Given the description of an element on the screen output the (x, y) to click on. 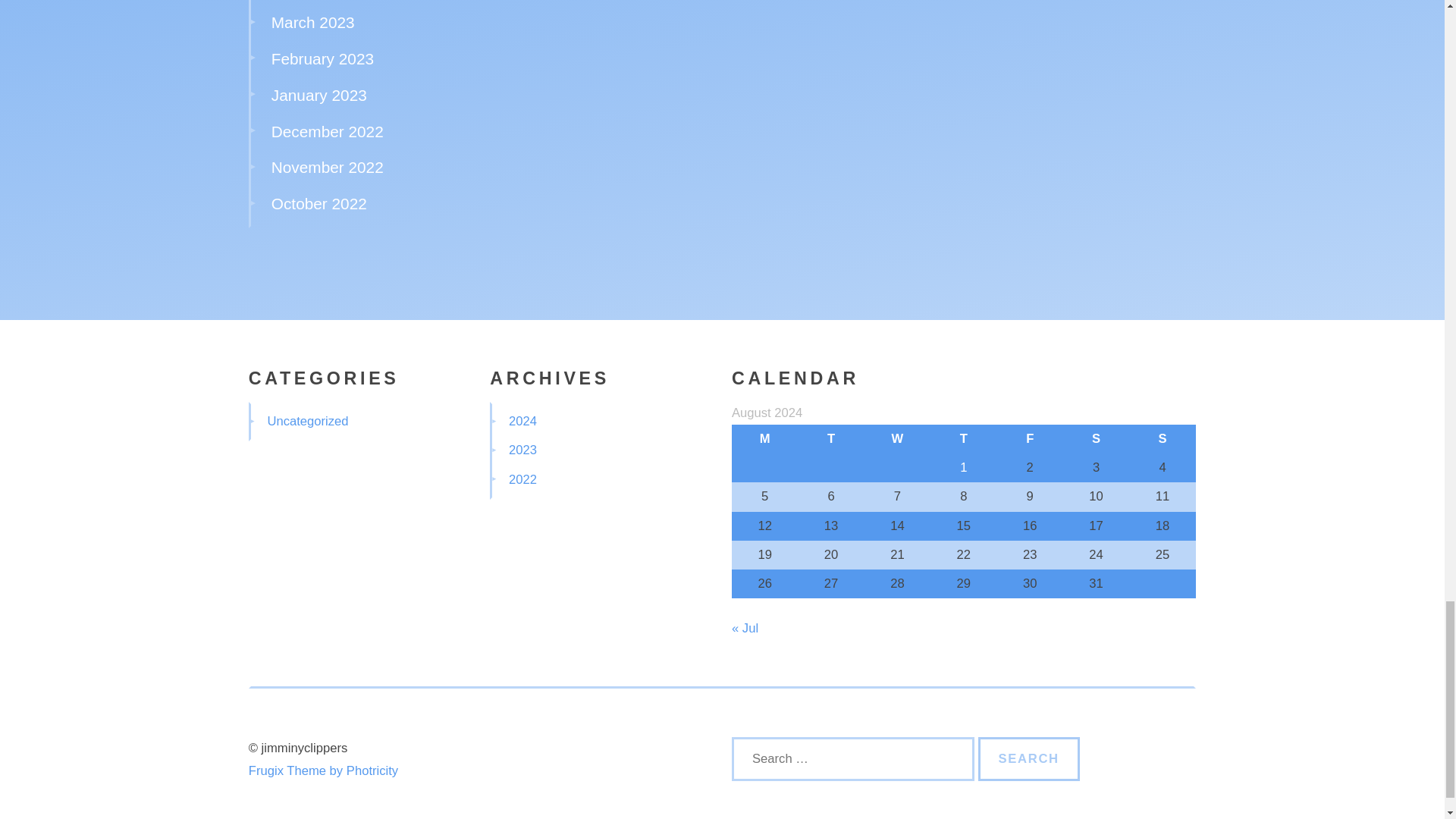
October 2022 (318, 203)
December 2022 (327, 131)
Tuesday (830, 439)
Sunday (1162, 439)
Search (1029, 759)
January 2023 (318, 95)
Monday (764, 439)
March 2023 (312, 22)
Thursday (962, 439)
Wednesday (897, 439)
